Given the description of an element on the screen output the (x, y) to click on. 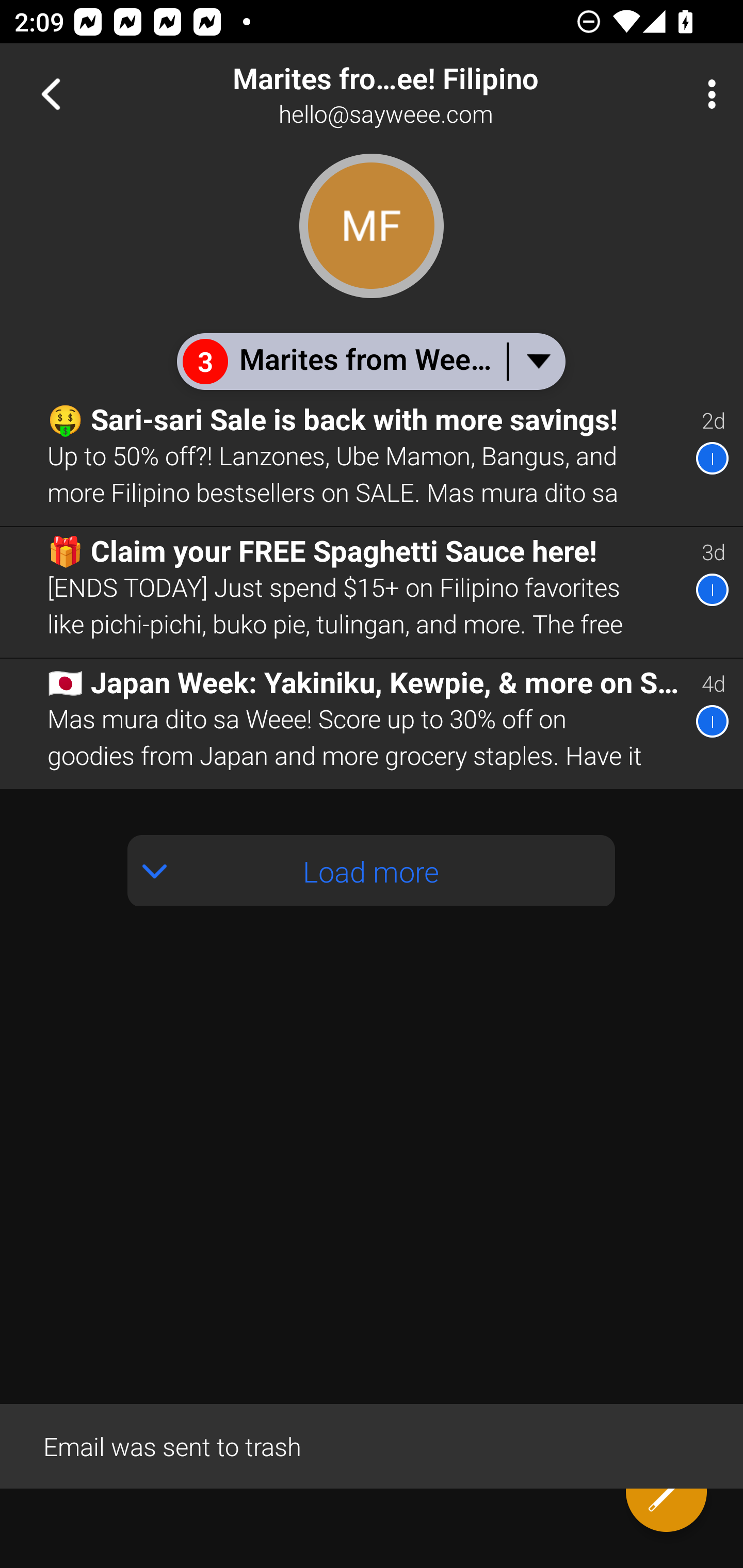
Navigate up (50, 93)
Marites from Weee! Filipino hello@sayweee.com (436, 93)
More Options (706, 93)
3 Marites from Weee! Filipino & You (370, 361)
Load more (371, 870)
Email was sent to trash (371, 1445)
